Given the description of an element on the screen output the (x, y) to click on. 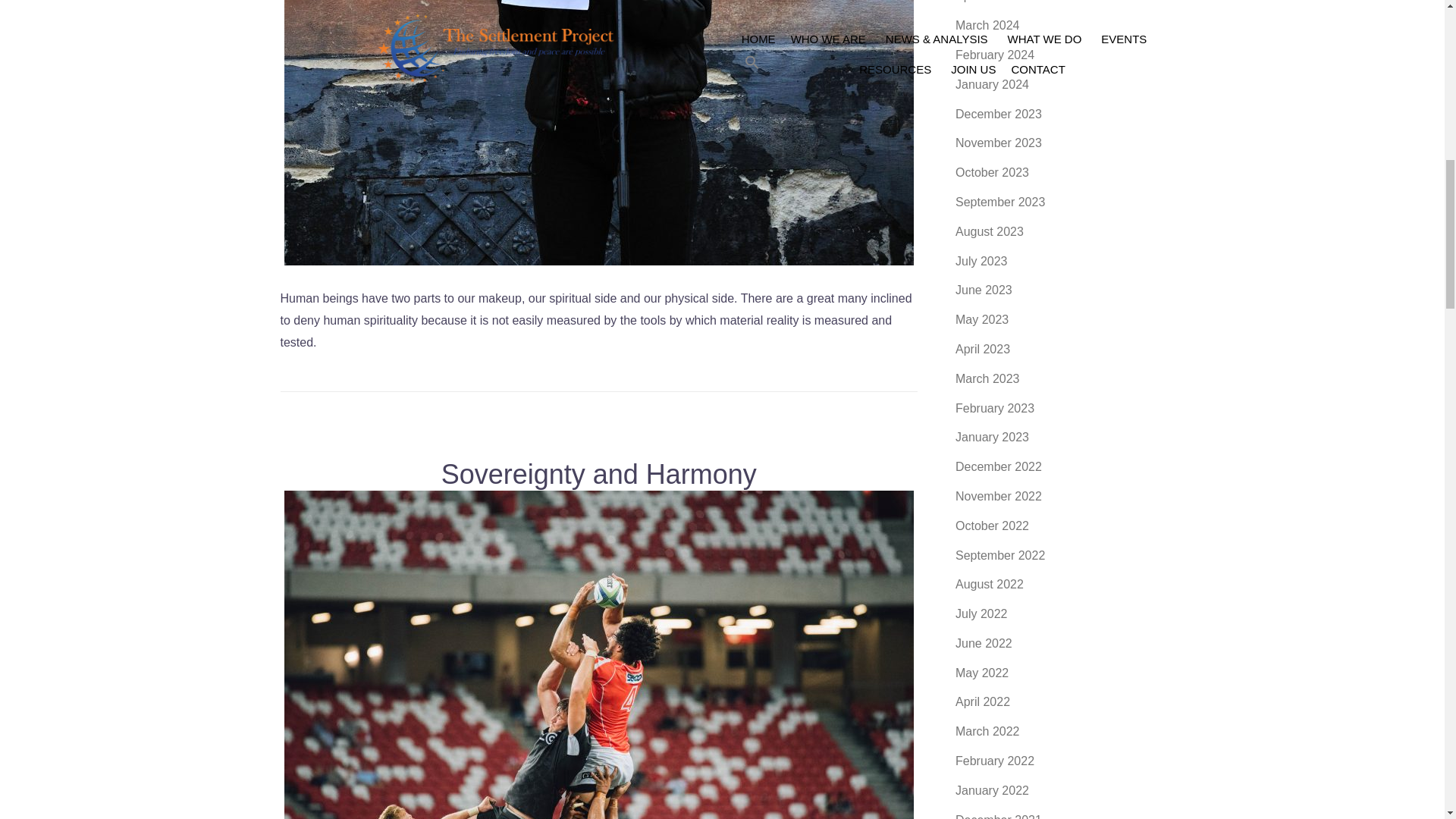
Sovereignty and Harmony (598, 698)
